Given the description of an element on the screen output the (x, y) to click on. 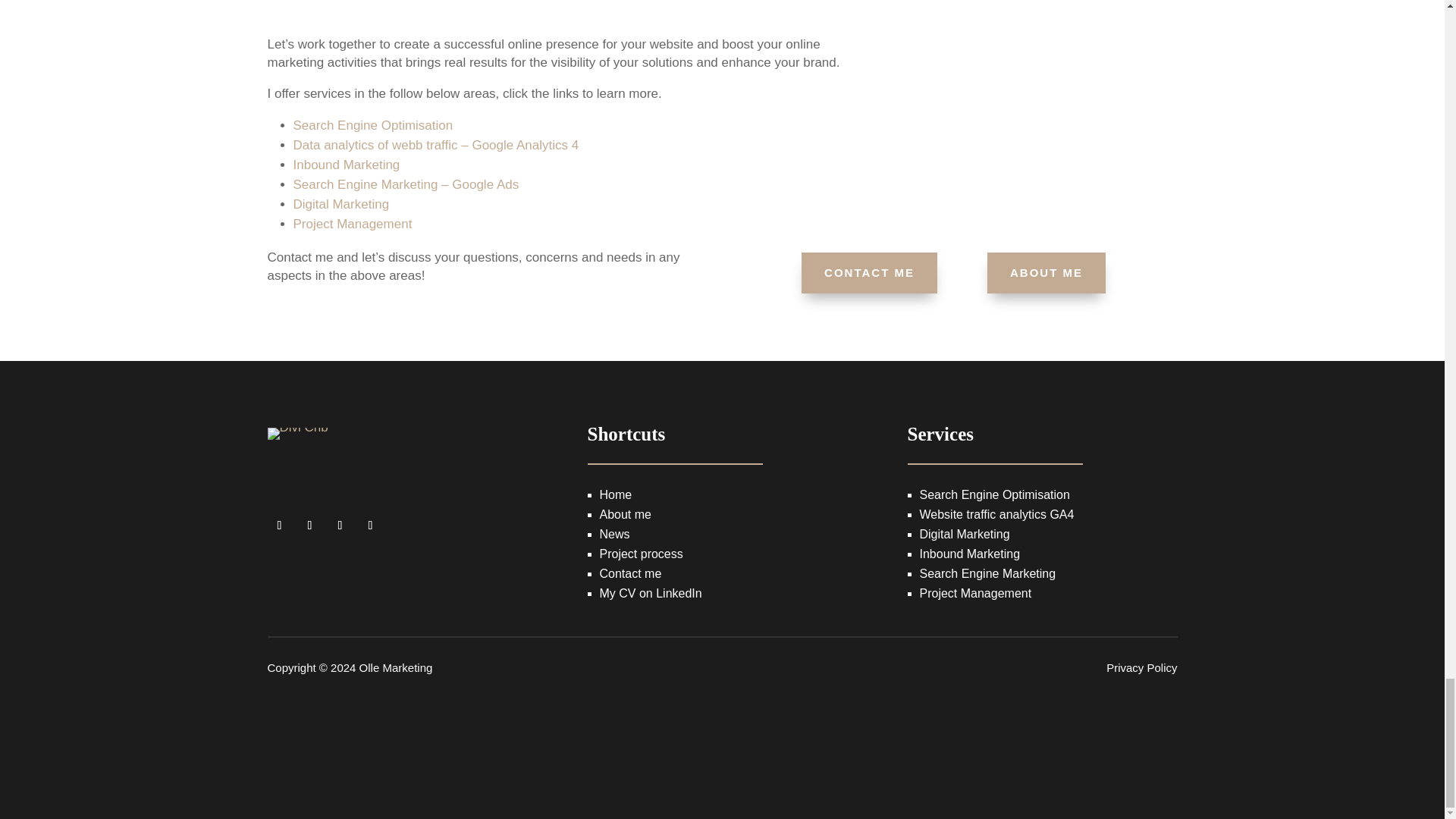
Follow on LinkedIn (369, 525)
Follow on X (339, 525)
Follow on Facebook (278, 525)
Follow on Instagram (309, 525)
Original on Transparent (296, 450)
